Given the description of an element on the screen output the (x, y) to click on. 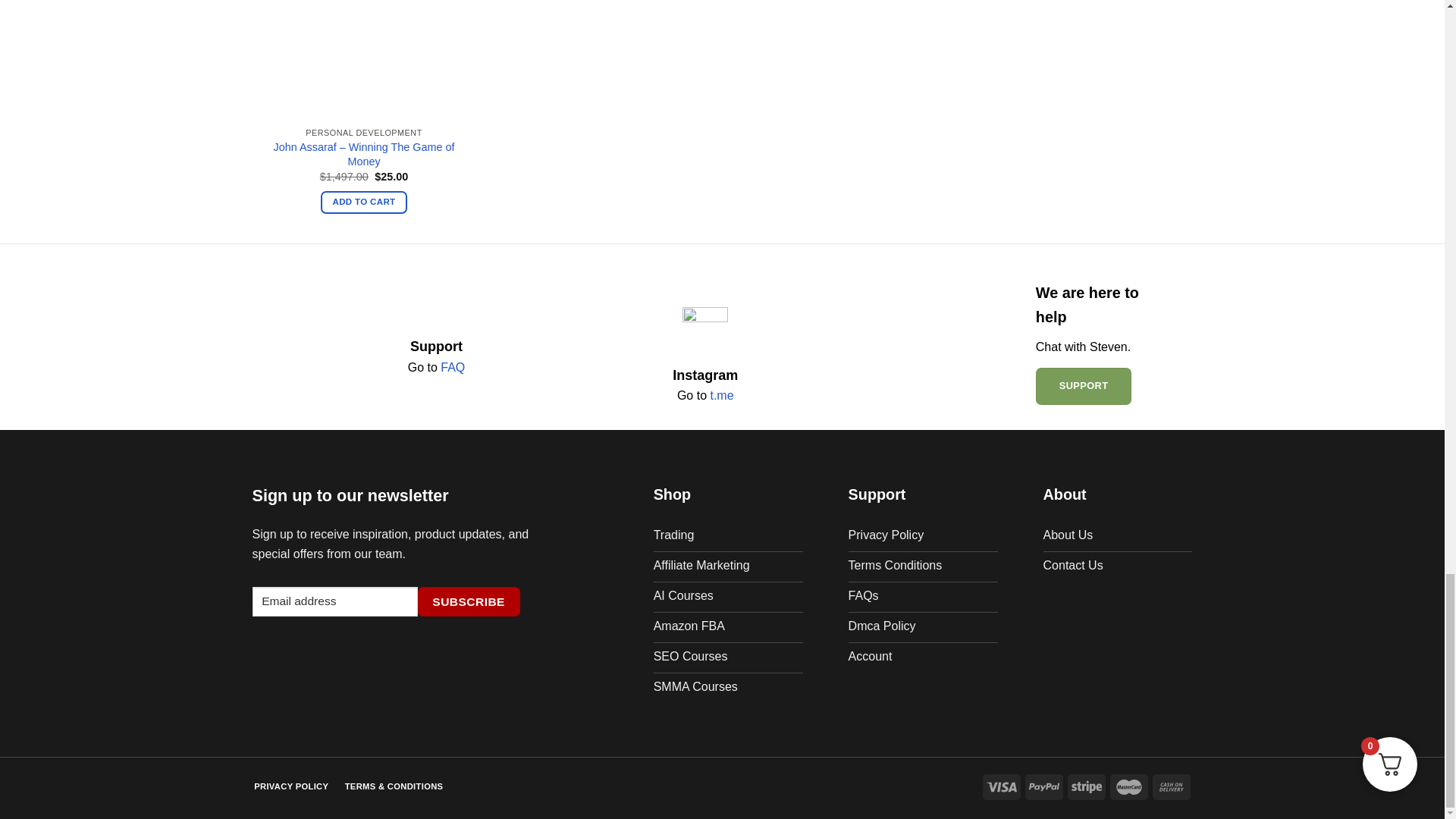
Email address (333, 601)
